Given the description of an element on the screen output the (x, y) to click on. 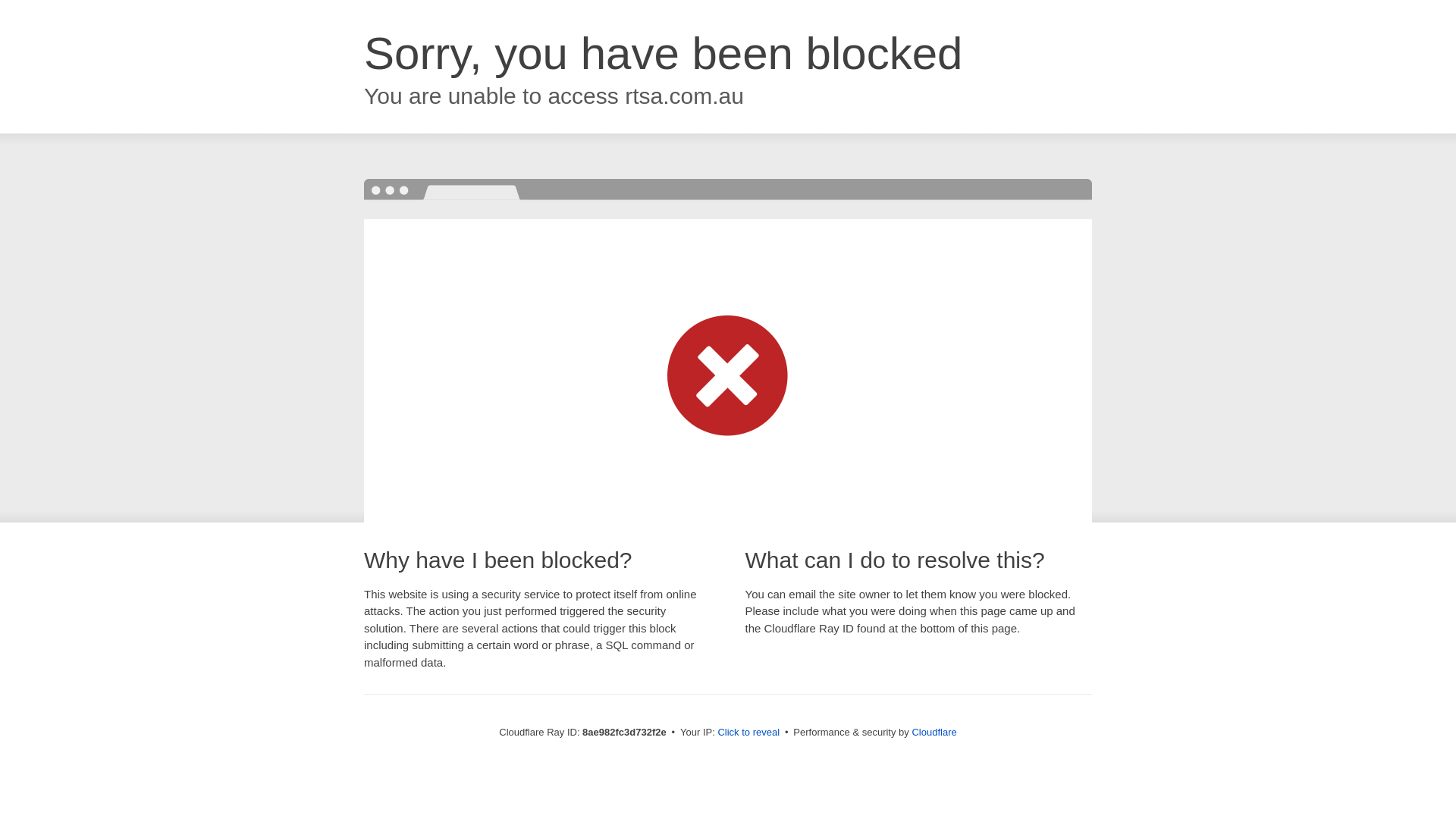
Cloudflare (933, 731)
Click to reveal (747, 732)
